Given the description of an element on the screen output the (x, y) to click on. 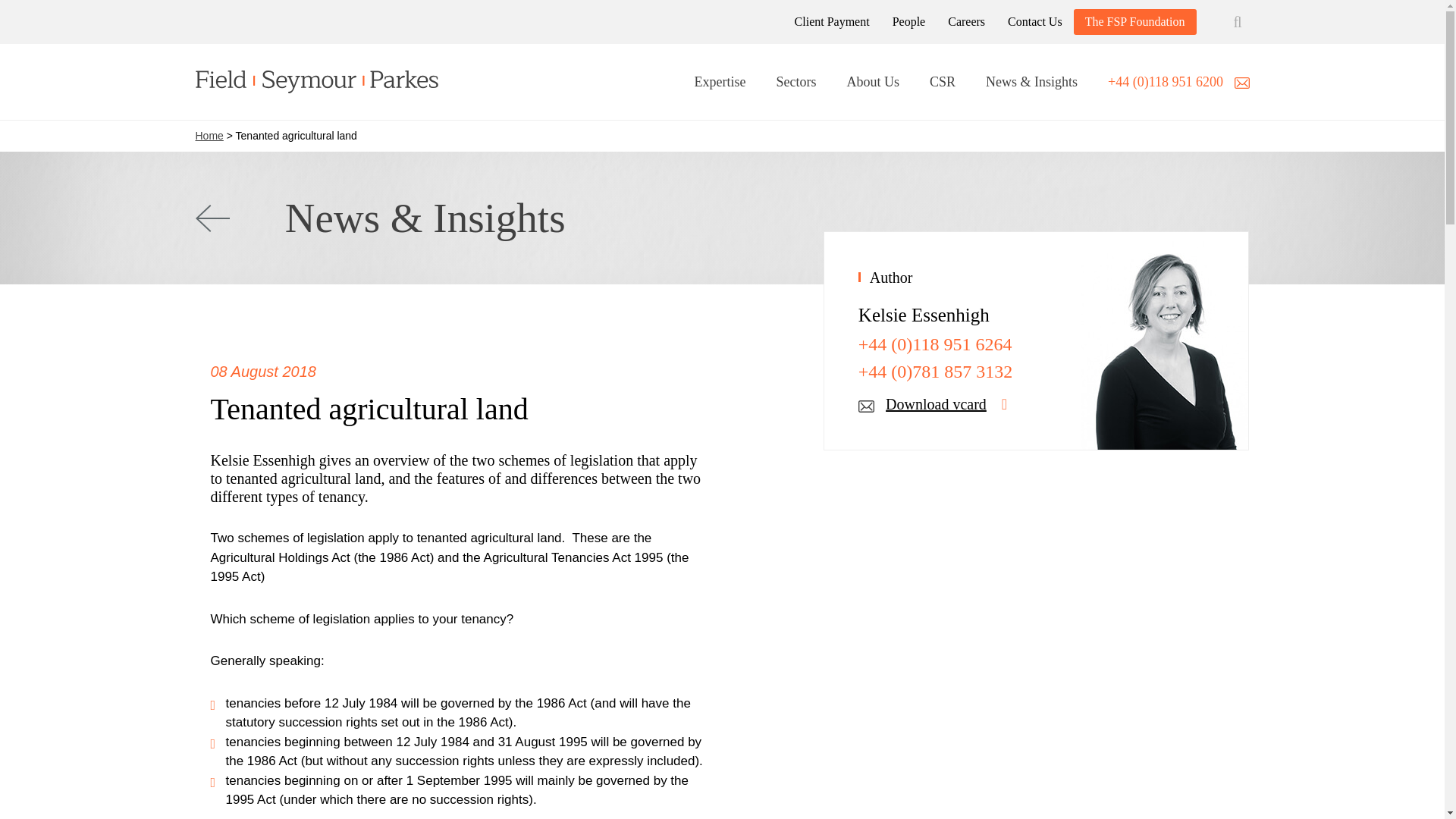
The FSP Foundation (1134, 22)
Client Payment (831, 21)
Expertise (719, 83)
Sectors (795, 83)
Contact Us (1034, 21)
People (909, 21)
Careers (966, 21)
Expertise (719, 83)
